Given the description of an element on the screen output the (x, y) to click on. 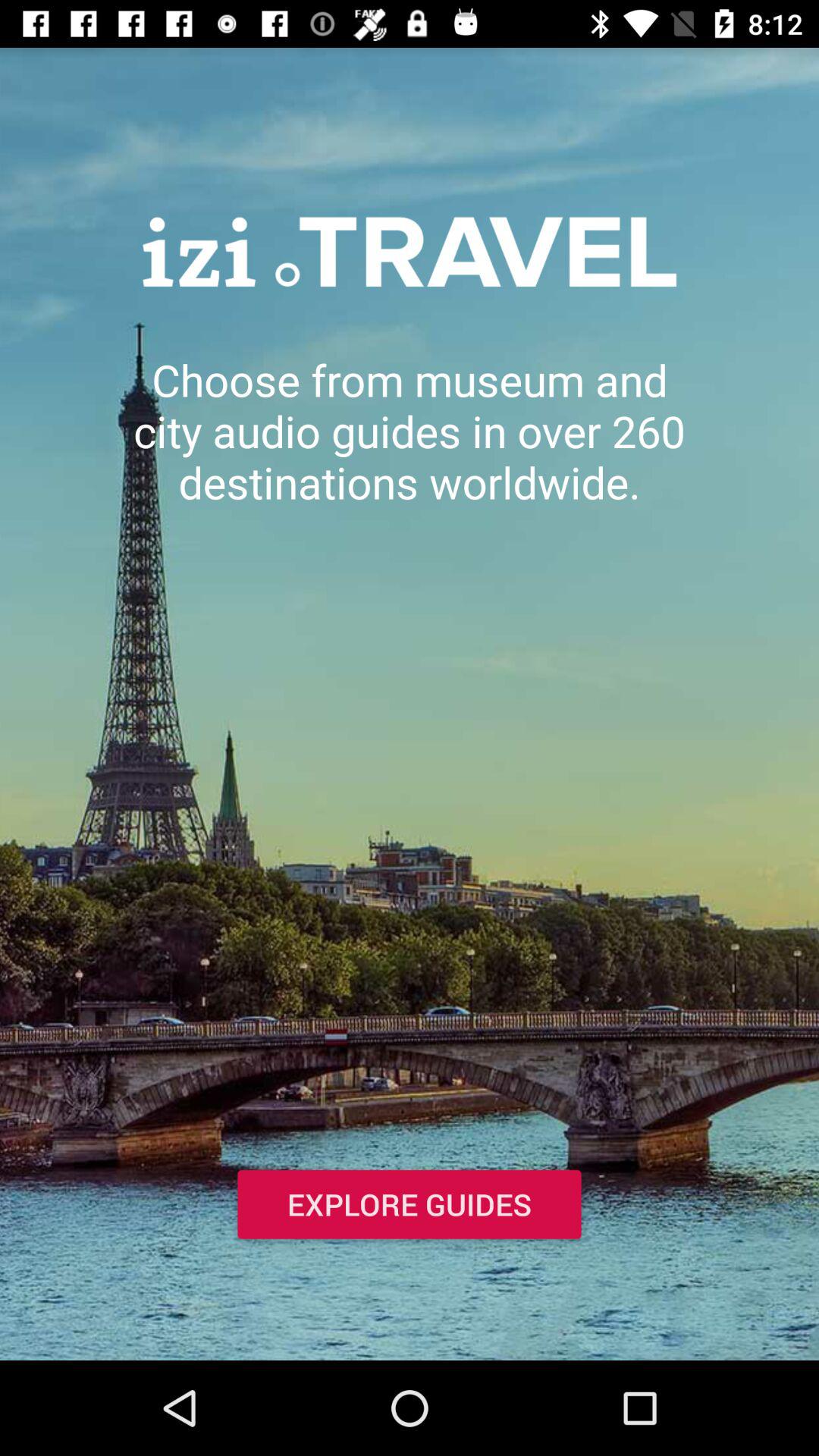
turn on explore guides (409, 1206)
